Given the description of an element on the screen output the (x, y) to click on. 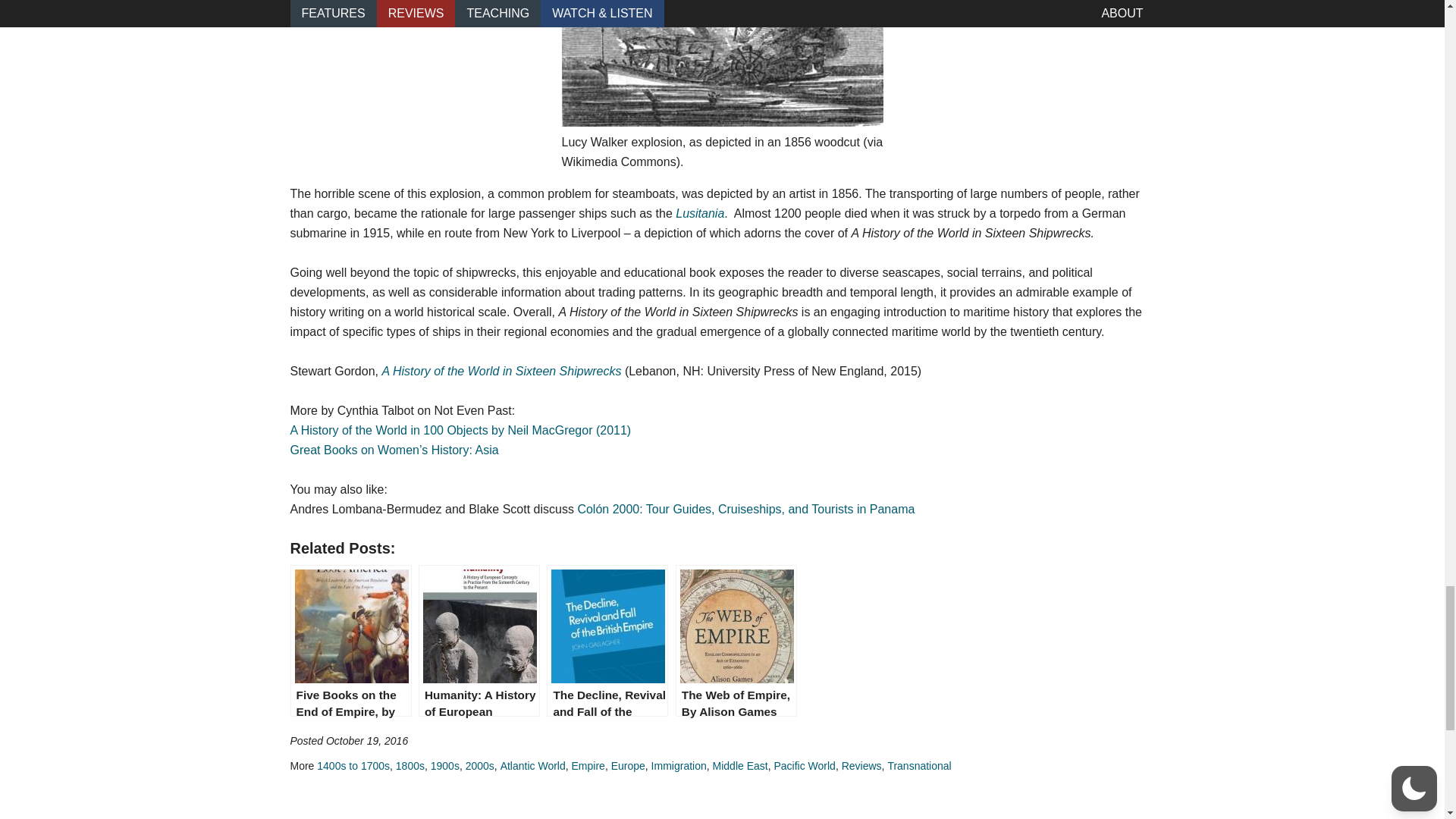
A History of the World in Sixteen Shipwrecks (501, 370)
1900s (445, 766)
Empire (588, 766)
Atlantic World (533, 766)
2000s (480, 766)
Europe (628, 766)
Lusitania (699, 213)
1400s to 1700s (353, 766)
1800s (410, 766)
